Given the description of an element on the screen output the (x, y) to click on. 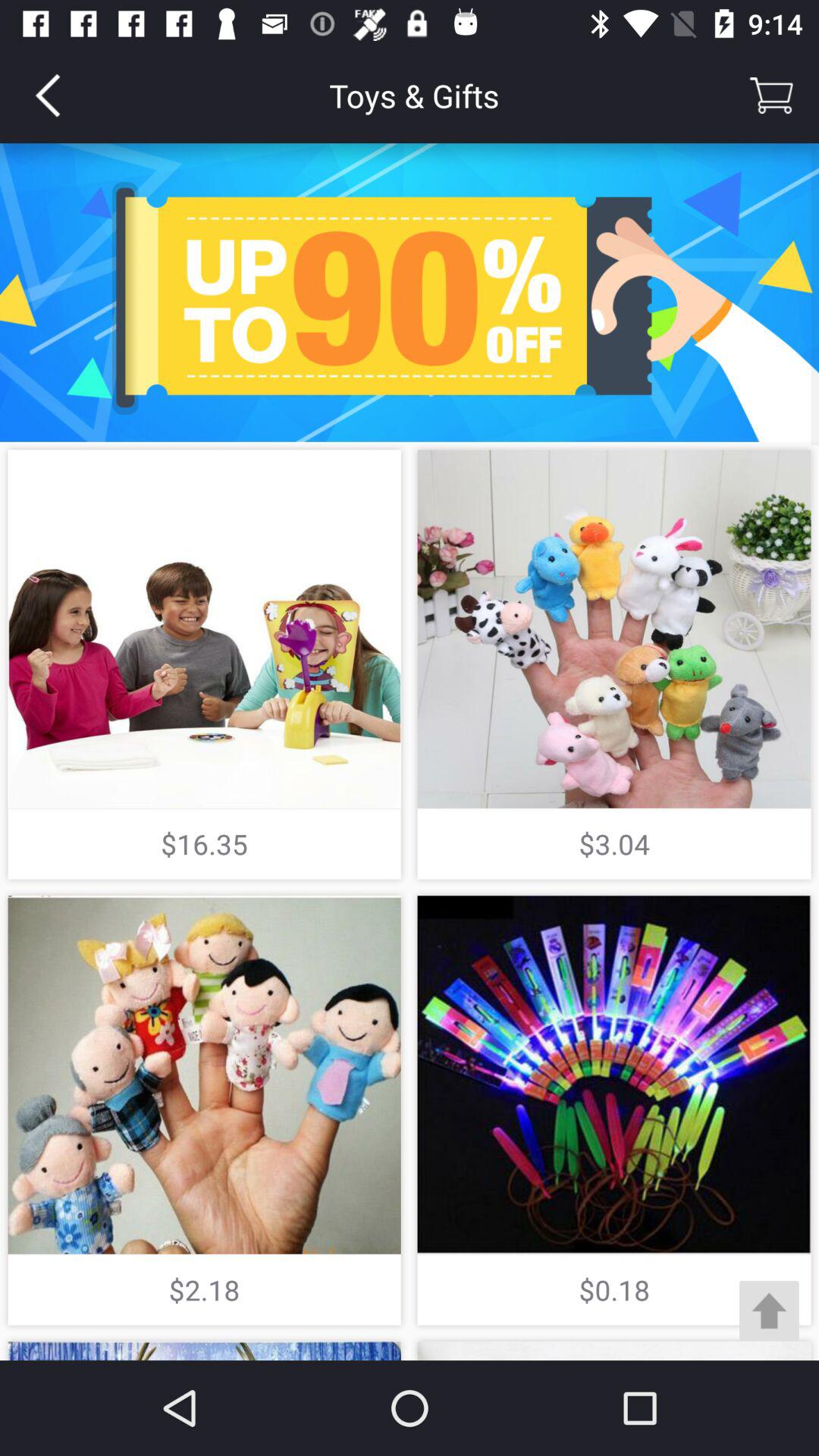
launch the item at the top right corner (771, 95)
